Given the description of an element on the screen output the (x, y) to click on. 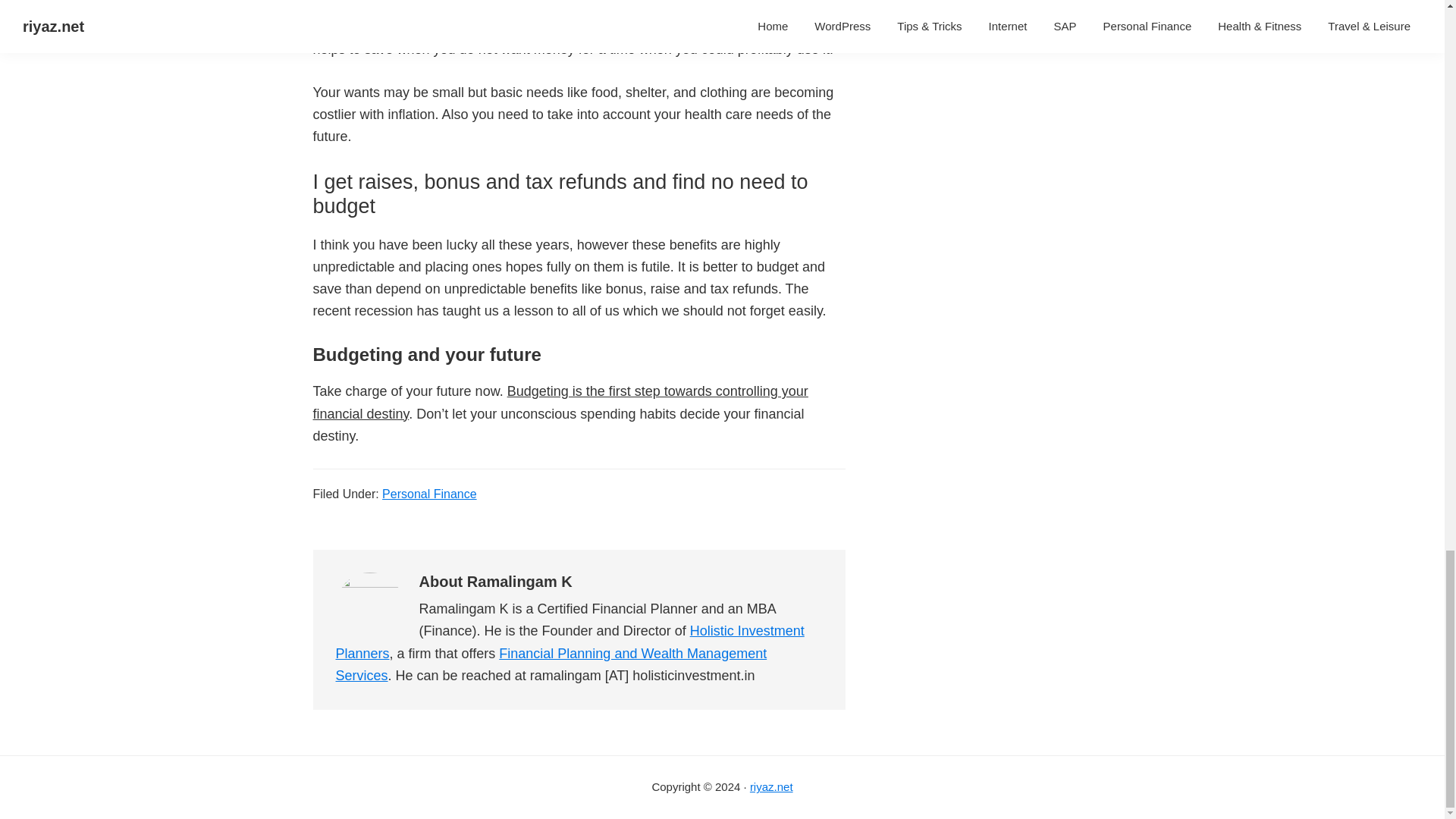
Holistic Investment Planners (568, 641)
Personal Finance (429, 493)
Financial Planning and Wealth Management Services (550, 664)
